Given the description of an element on the screen output the (x, y) to click on. 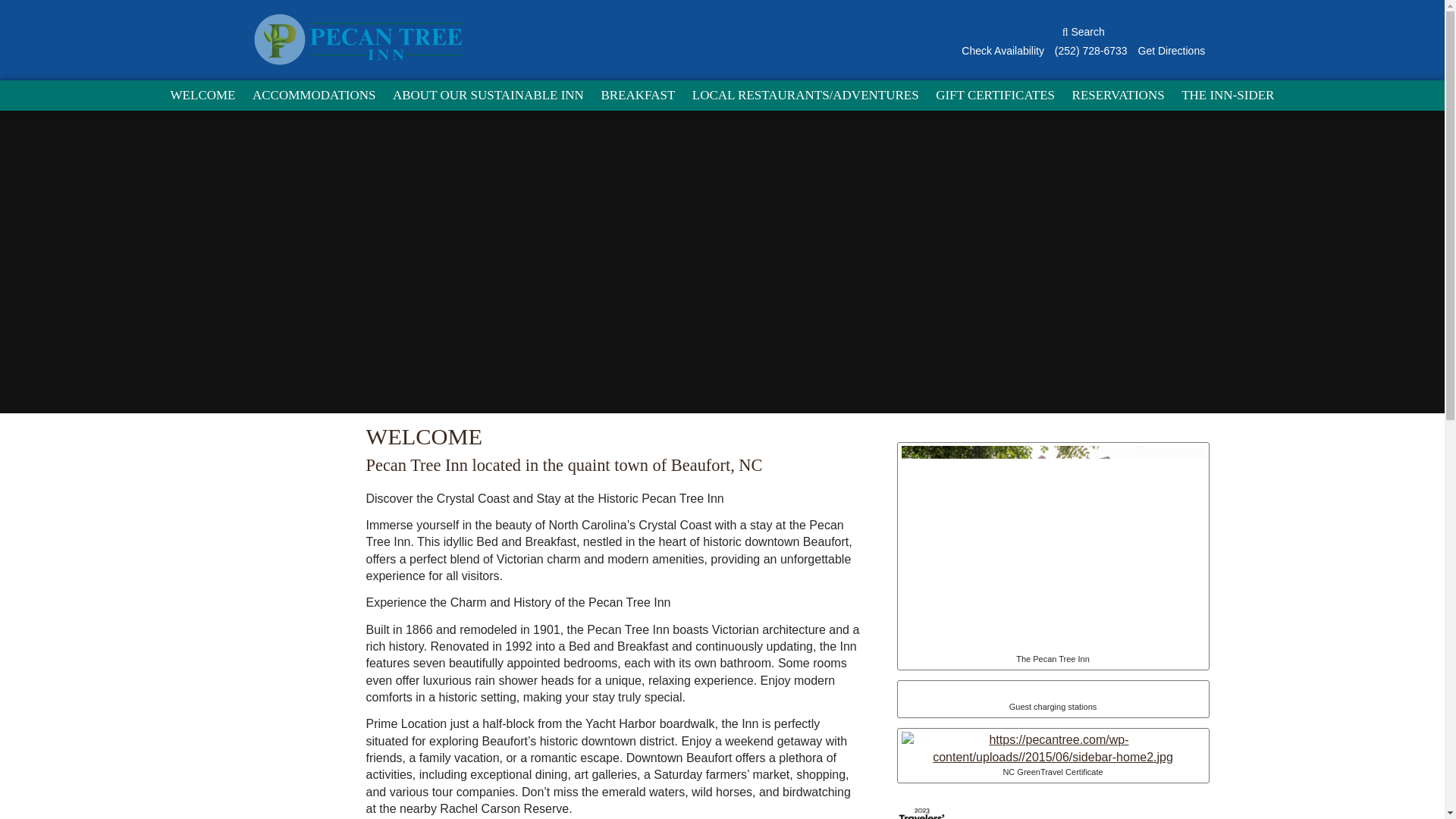
Get Directions (1171, 50)
THE INN-SIDER (1227, 95)
RESERVATIONS (1118, 95)
BREAKFAST (637, 95)
Phone Number (1090, 50)
GIFT CERTIFICATES (994, 95)
Check Availability (1001, 50)
Check Availability (1001, 50)
Get Directions (1171, 50)
WELCOME (203, 95)
